Given the description of an element on the screen output the (x, y) to click on. 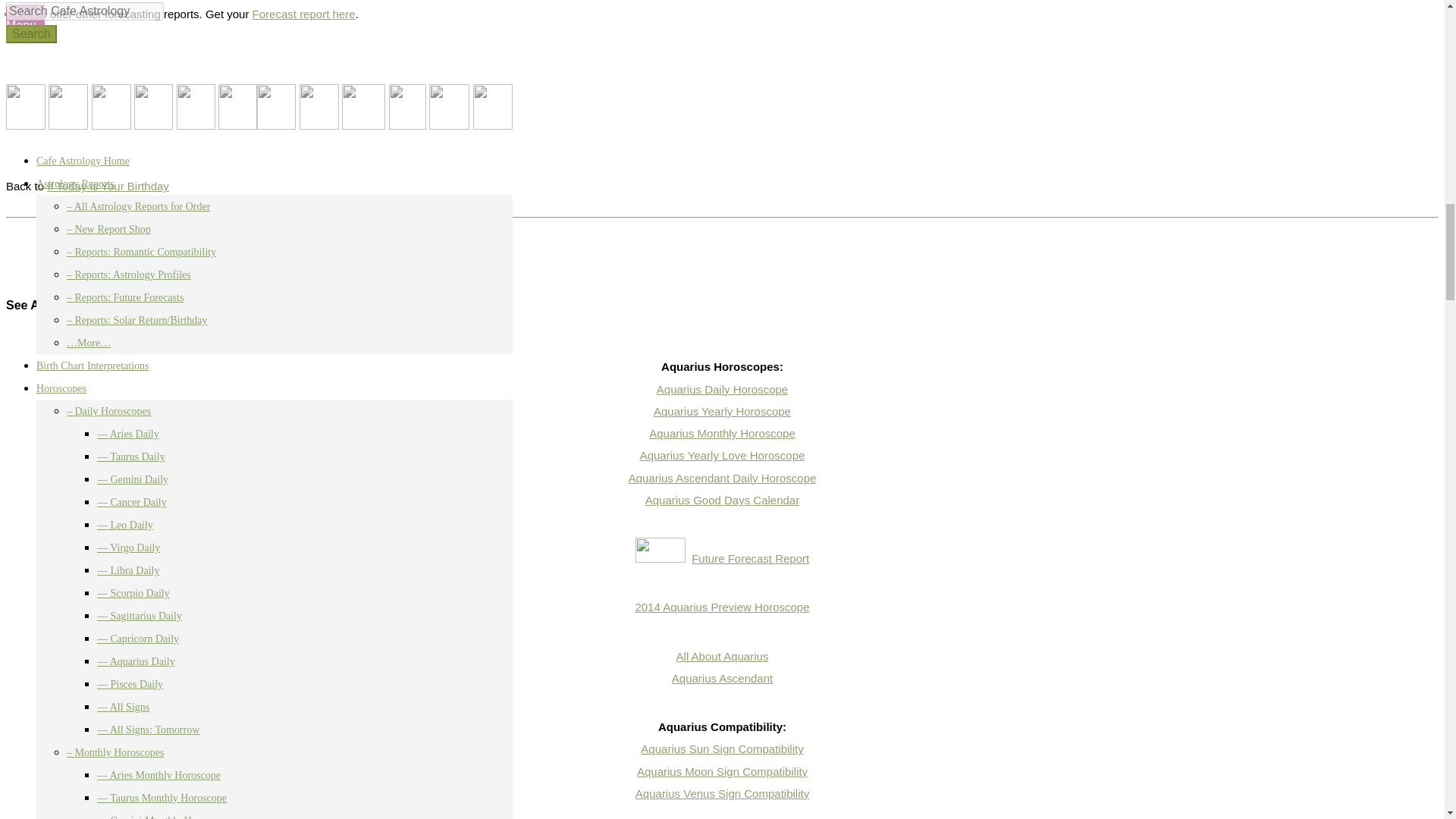
Aquarius Yearly Horoscope (721, 410)
If Today is Your Birthday (107, 185)
Aquarius Sun Sign Compatibility (721, 748)
Aquarius Venus Sign Compatibility (721, 793)
Future Forecast Report (750, 558)
Aquarius Good Days Calendar (722, 499)
Aquarius Yearly Love Horoscope (722, 454)
Aquarius Monthly Horoscope (721, 432)
2014 Aquarius Preview Horoscope (721, 606)
All About Aquarius (722, 656)
Forecast report here (303, 13)
Aquarius Moon Sign Compatibility (722, 771)
Aquarius Ascendant (722, 677)
Aquarius Ascendant Daily Horoscope (722, 477)
Aquarius Daily Horoscope (721, 389)
